Given the description of an element on the screen output the (x, y) to click on. 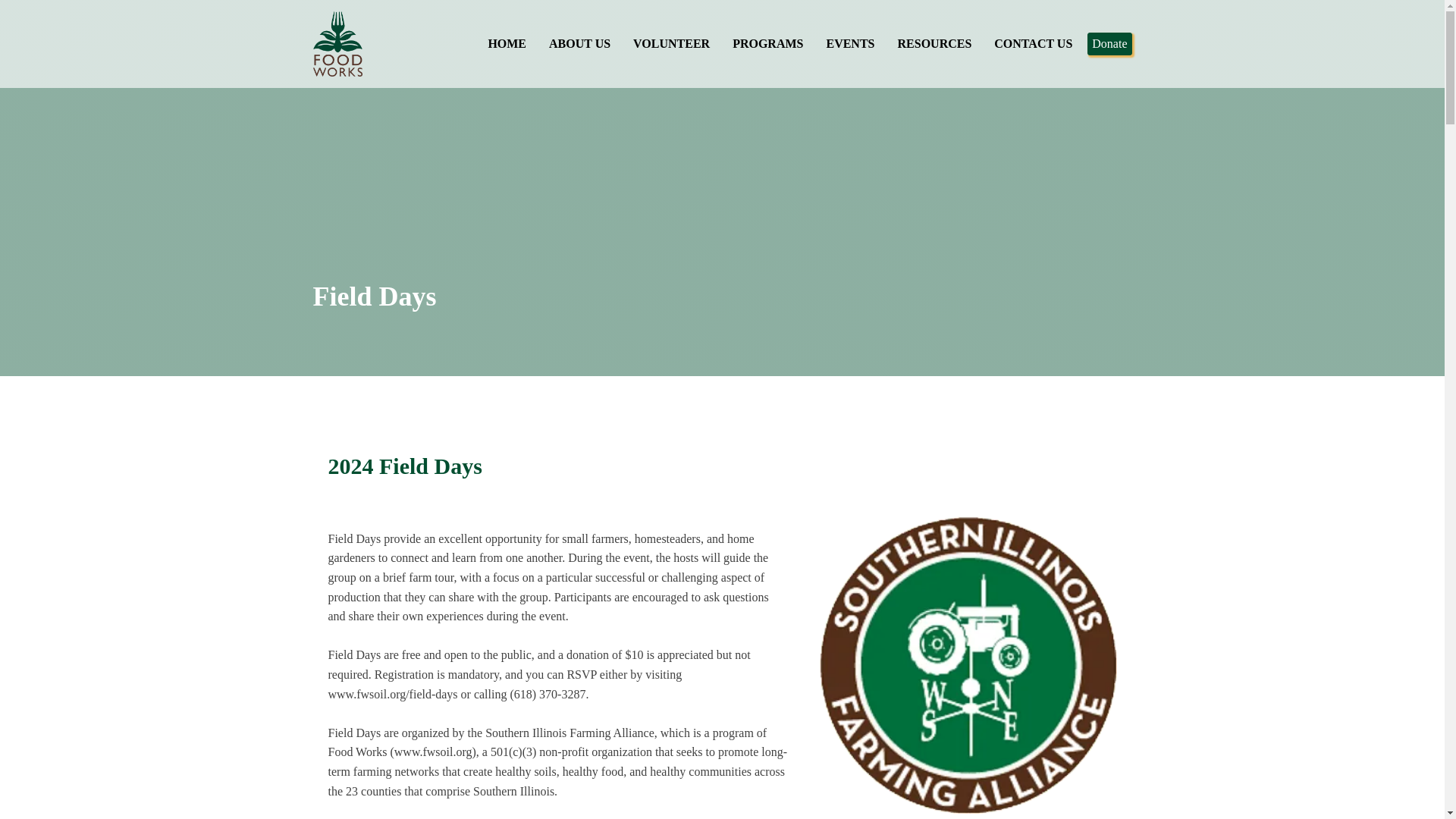
Donate (1109, 43)
RESOURCES (933, 43)
PROGRAMS (766, 43)
HOME (506, 43)
ABOUT US (579, 43)
EVENTS (849, 43)
VOLUNTEER (670, 43)
CONTACT US (1032, 43)
